Given the description of an element on the screen output the (x, y) to click on. 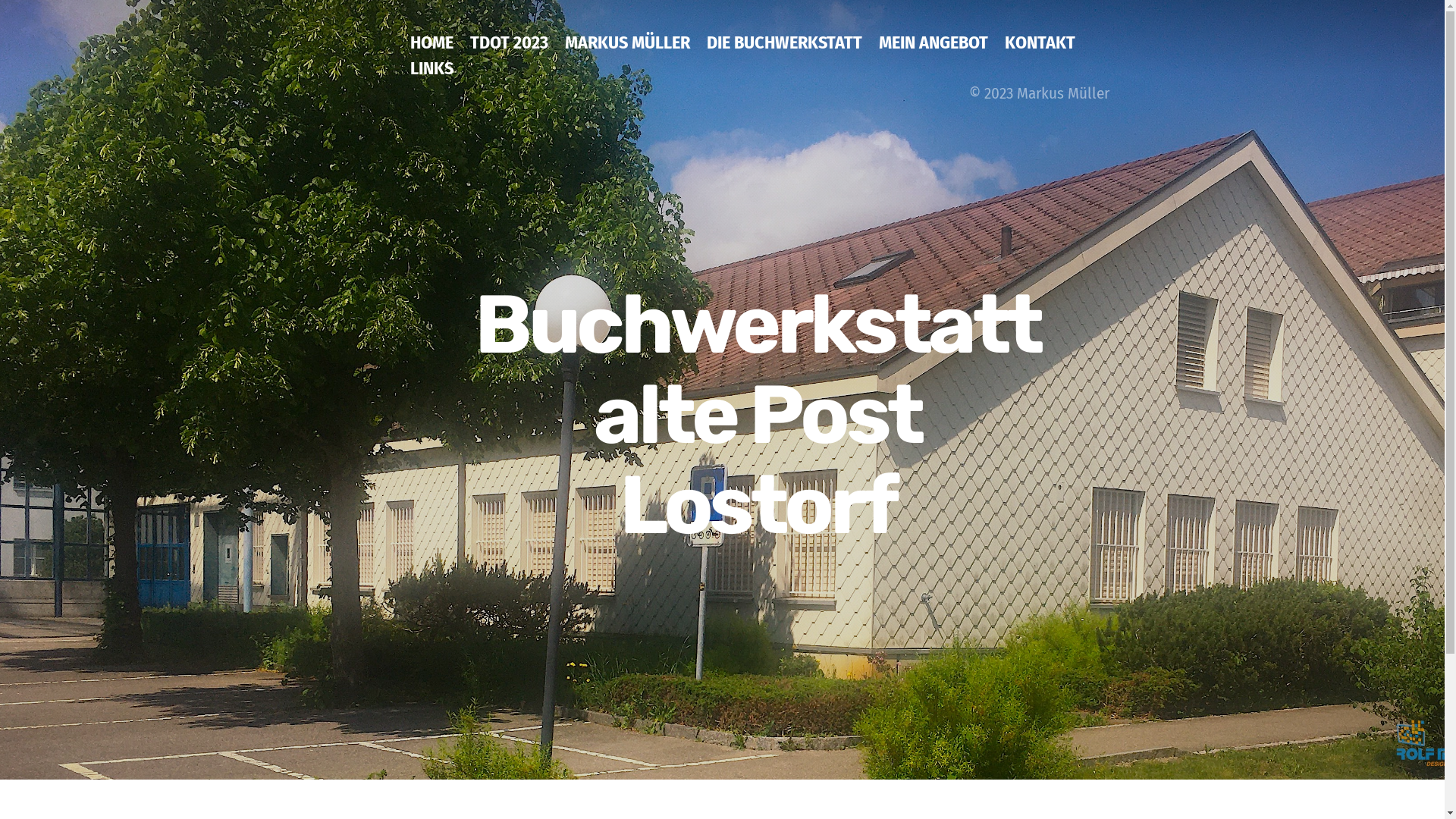
LINKS Element type: text (431, 79)
TDOT 2023 Element type: text (509, 53)
MEIN ANGEBOT Element type: text (933, 53)
KONTAKT Element type: text (1039, 53)
DIE BUCHWERKSTATT Element type: text (784, 53)
HOME Element type: text (431, 53)
